Given the description of an element on the screen output the (x, y) to click on. 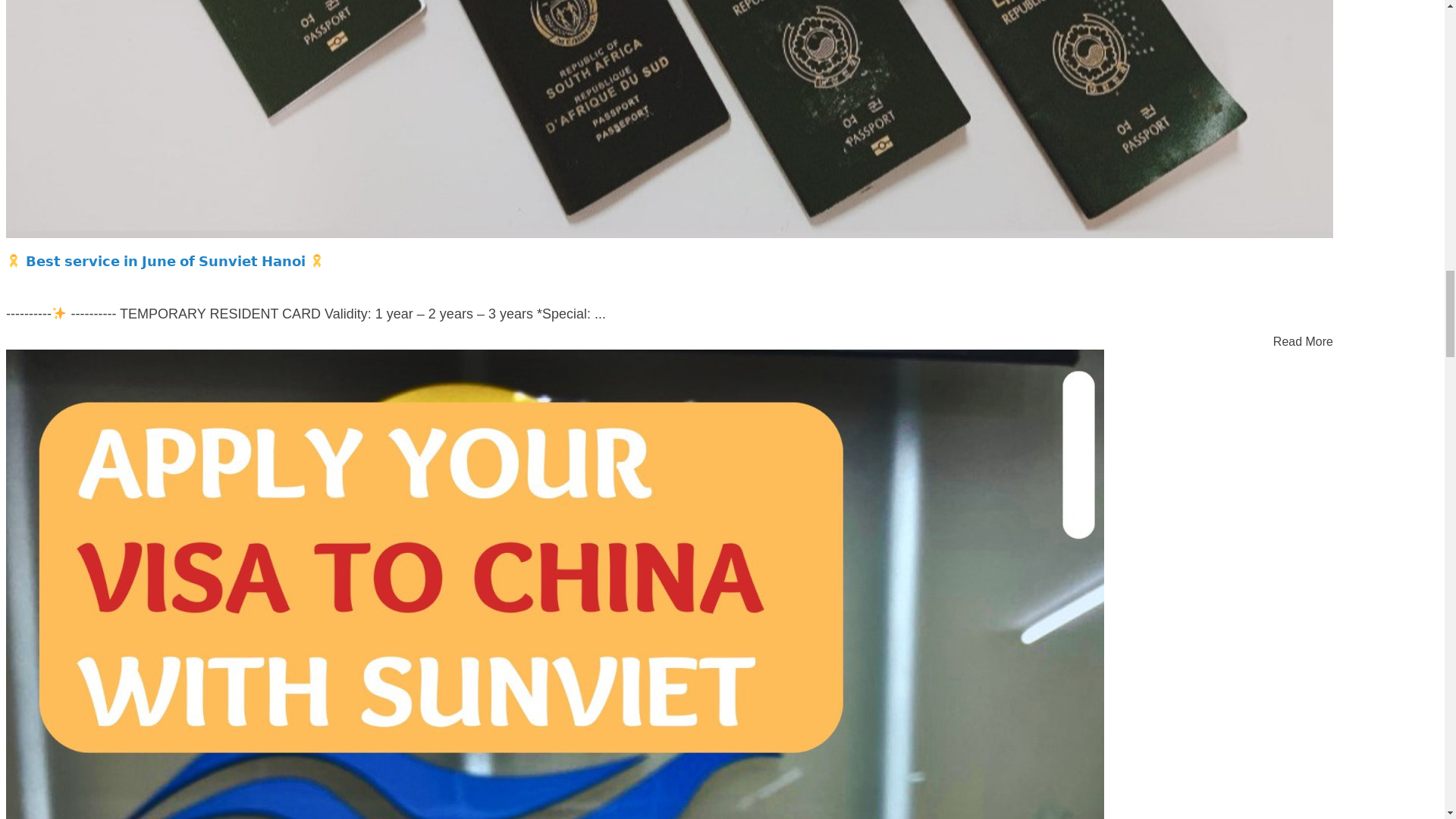
Read More (1302, 341)
